Given the description of an element on the screen output the (x, y) to click on. 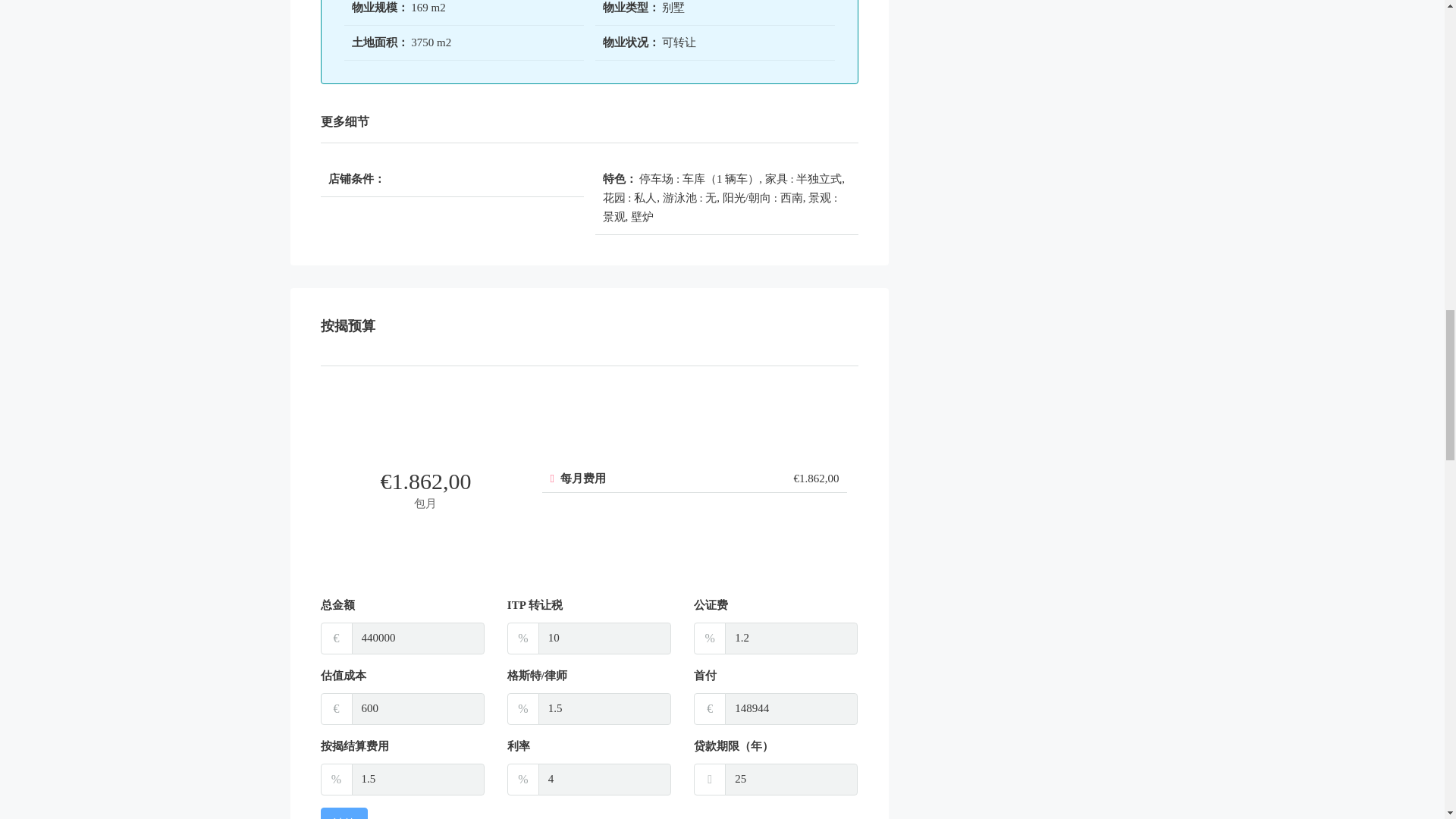
4 (604, 779)
10 (604, 638)
440000 (418, 638)
1.2 (791, 638)
1.5 (604, 708)
600 (418, 708)
148944 (791, 708)
25 (791, 779)
1.5 (418, 779)
